Given the description of an element on the screen output the (x, y) to click on. 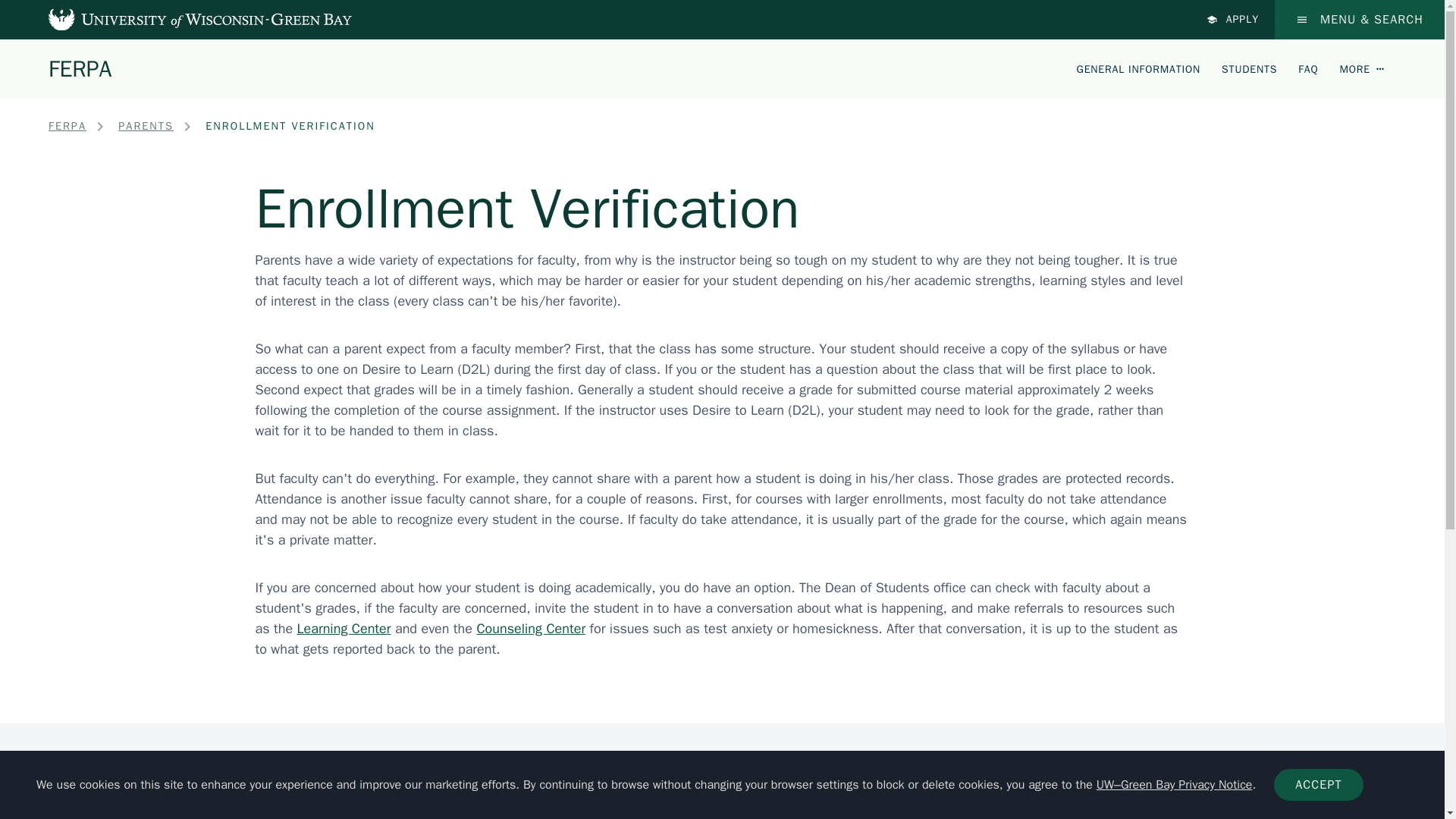
MORE (1362, 68)
FERPA (80, 68)
APPLY (1233, 19)
University of Wisconsin-Green Bay logo (139, 802)
GENERAL INFORMATION (1139, 68)
STUDENTS (1248, 68)
Accept (1318, 784)
